Given the description of an element on the screen output the (x, y) to click on. 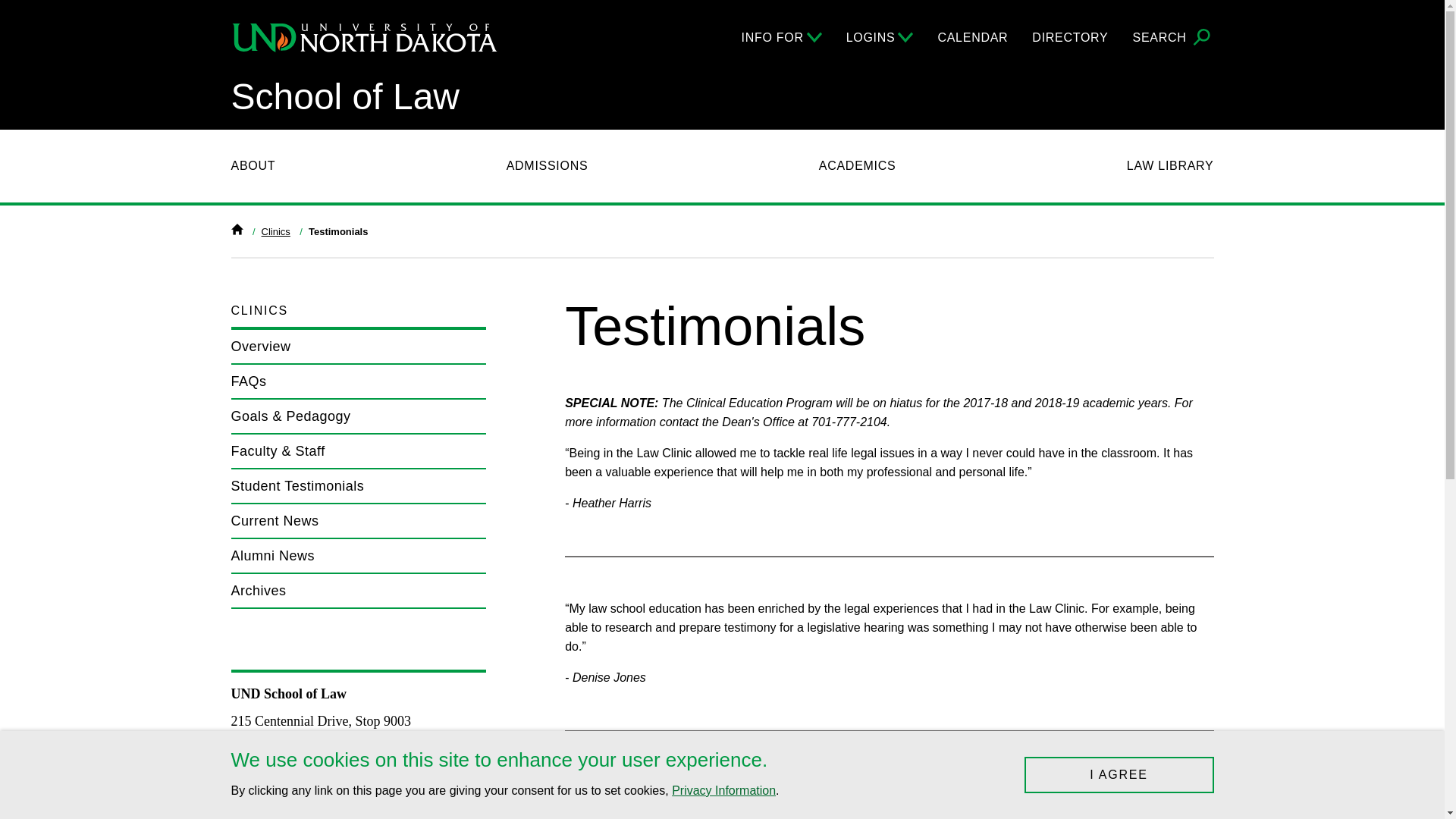
LOGINS (879, 37)
ACADEMICS (857, 165)
CALENDAR (972, 37)
LAW LIBRARY (1170, 165)
INFO FOR (781, 37)
DIRECTORY (1070, 37)
ABOUT (252, 165)
School of Law (345, 96)
ADMISSIONS (547, 165)
SEARCH (1173, 37)
